Given the description of an element on the screen output the (x, y) to click on. 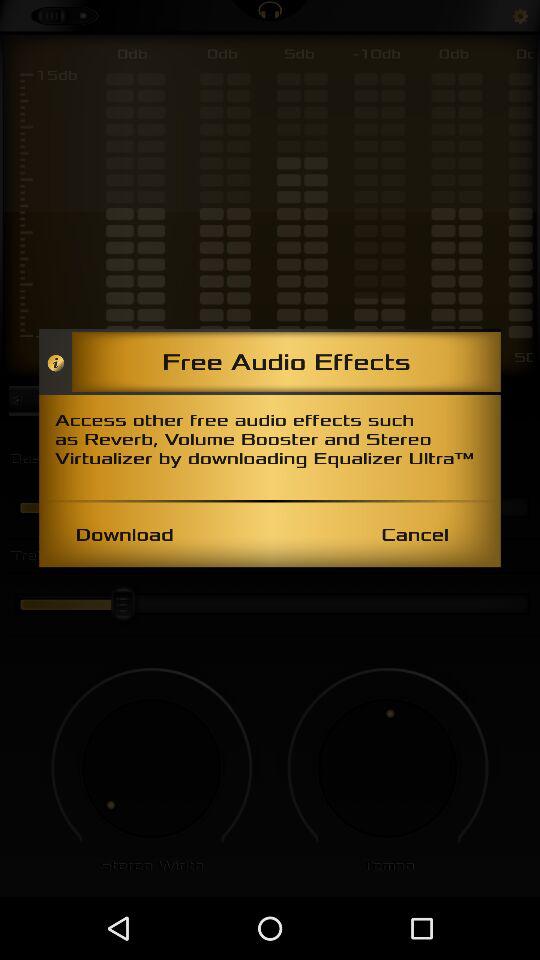
tap item to the left of the cancel (124, 534)
